Given the description of an element on the screen output the (x, y) to click on. 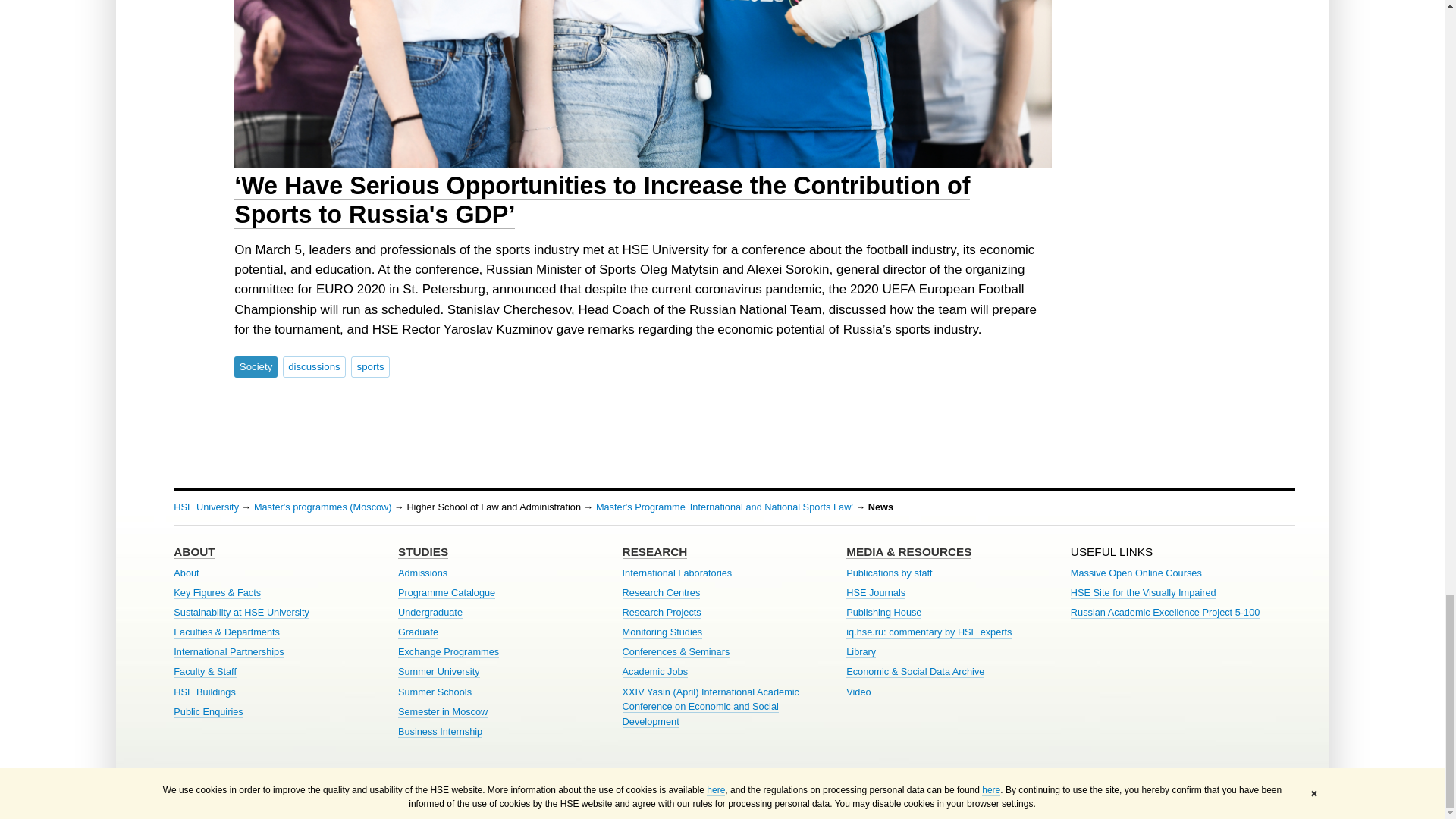
sports (370, 366)
discussions (314, 366)
